Given the description of an element on the screen output the (x, y) to click on. 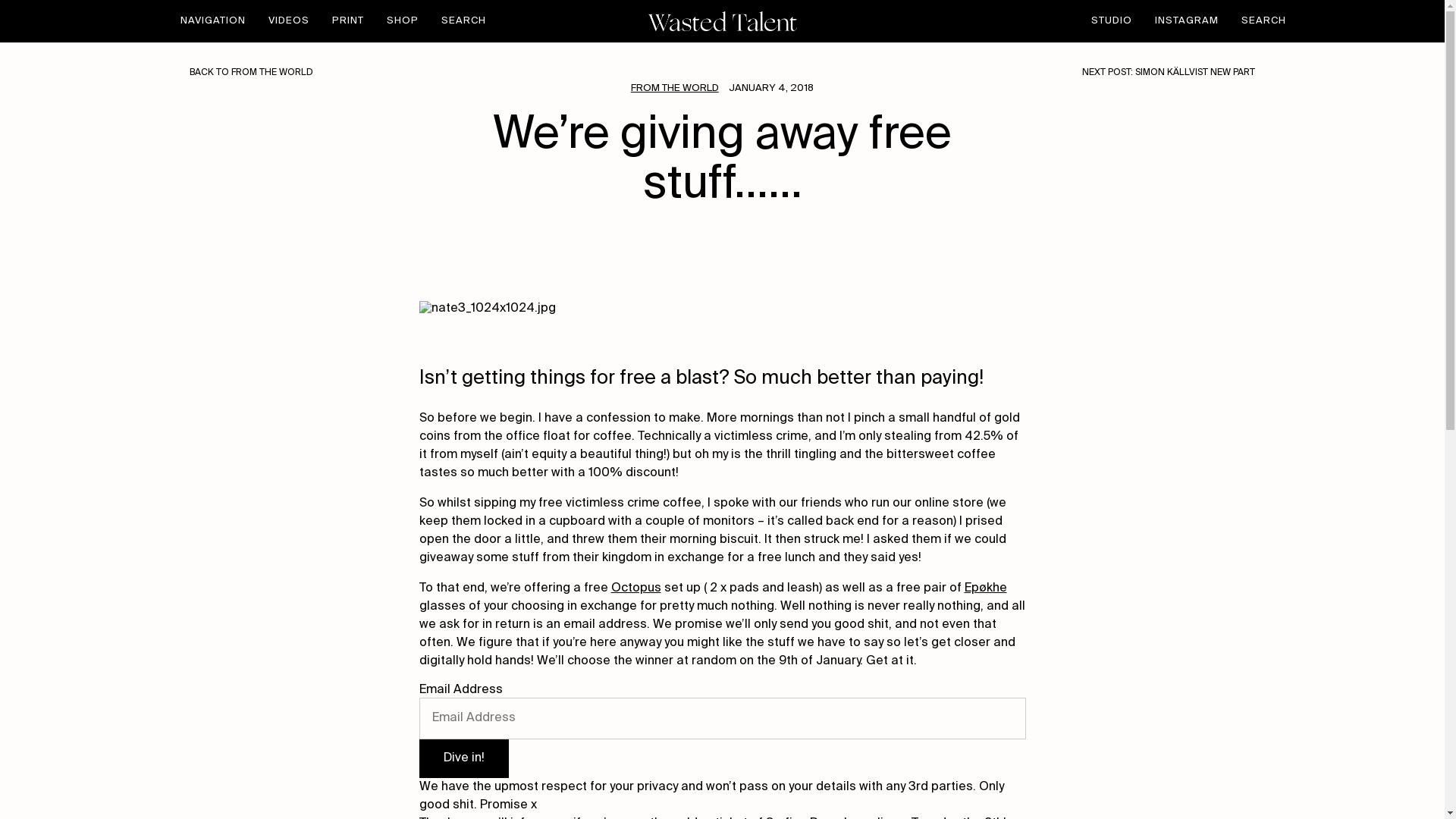
NAVIGATION (218, 20)
SEARCH (1257, 20)
STUDIO (1116, 20)
INSTAGRAM (1186, 20)
Octopus (636, 588)
SHOP (401, 20)
SEARCH (456, 20)
BACK TO FROM THE WORLD (454, 72)
PRINT (347, 20)
Dive in! (463, 757)
